Given the description of an element on the screen output the (x, y) to click on. 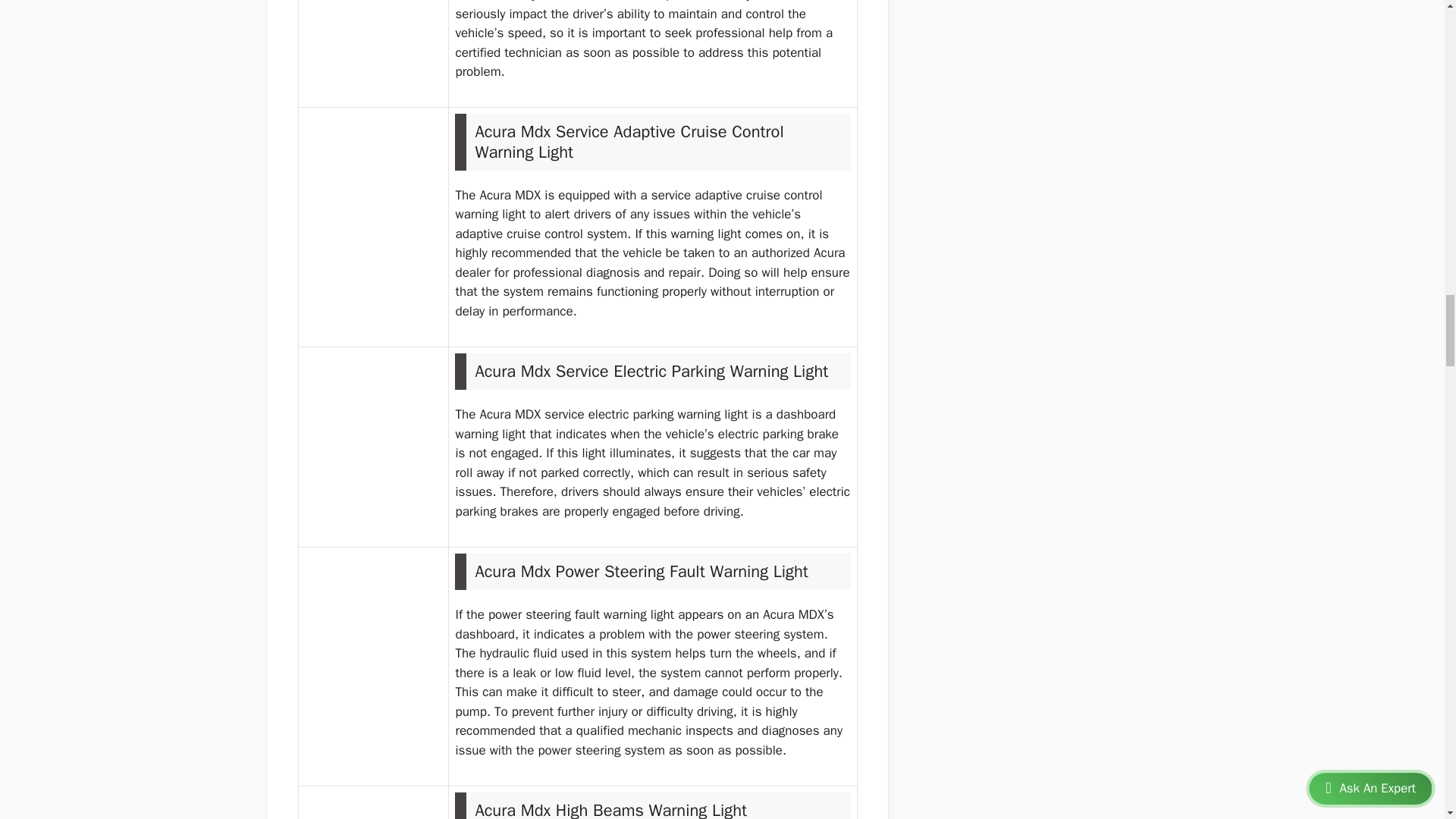
Acura Mdx Dashboard Warning Lights And Symbols 8 (373, 666)
Acura Mdx Dashboard Warning Lights And Symbols 5 (373, 38)
Acura Mdx Dashboard Warning Lights And Symbols 9 (373, 817)
Acura Mdx Dashboard Warning Lights And Symbols 6 (373, 227)
Acura Mdx Dashboard Warning Lights And Symbols 7 (373, 446)
